Given the description of an element on the screen output the (x, y) to click on. 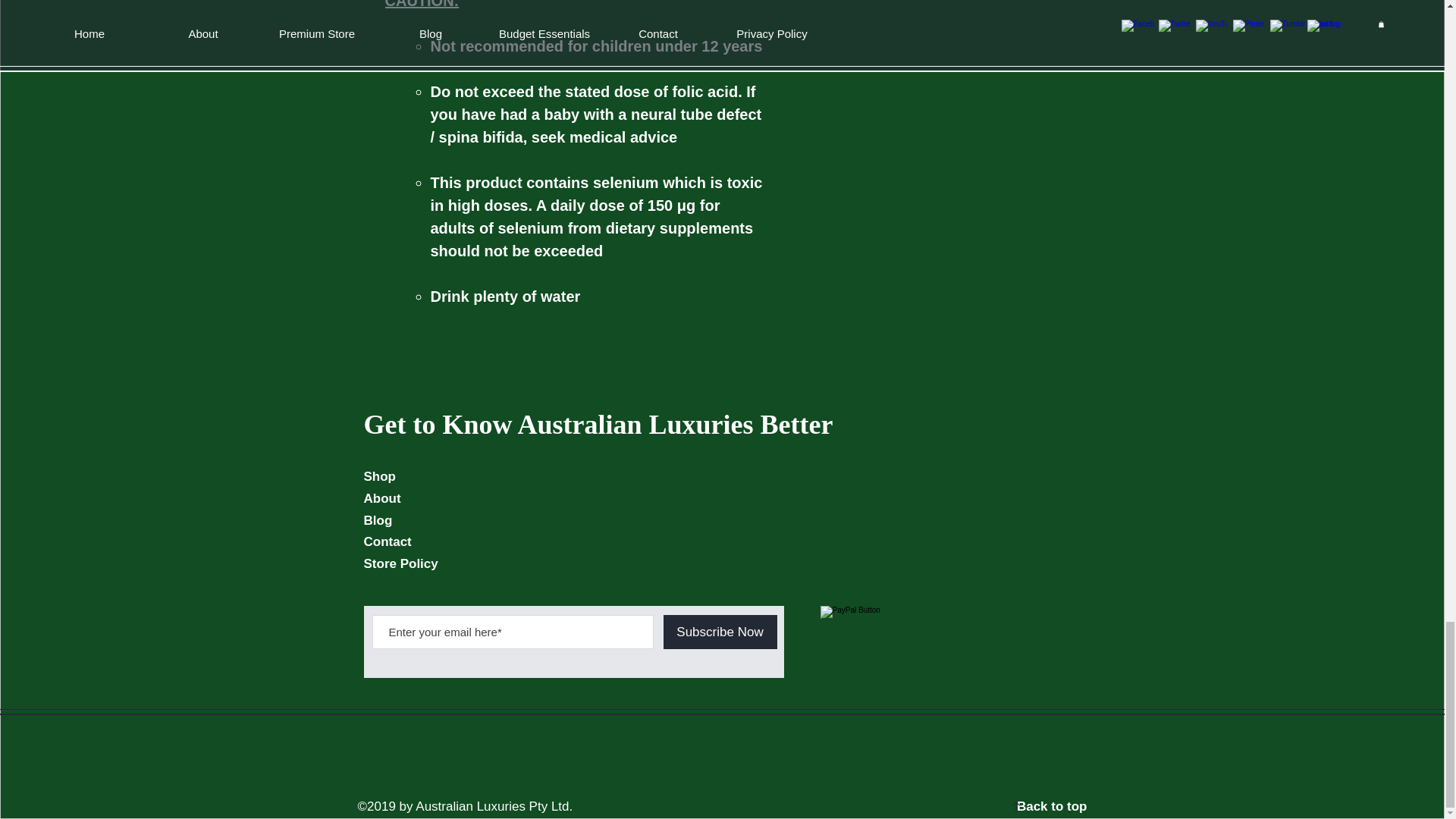
Shop (380, 476)
About (382, 498)
Store Policy (401, 563)
Blog (378, 520)
Back to top (1051, 806)
Contact (388, 541)
Subscribe Now (719, 632)
